Given the description of an element on the screen output the (x, y) to click on. 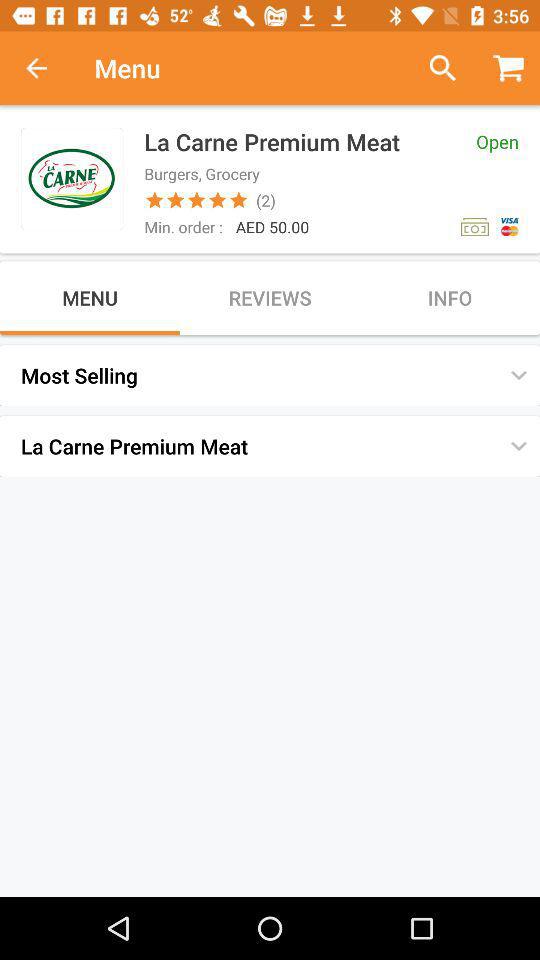
turn off icon to the left of the menu icon (47, 68)
